Given the description of an element on the screen output the (x, y) to click on. 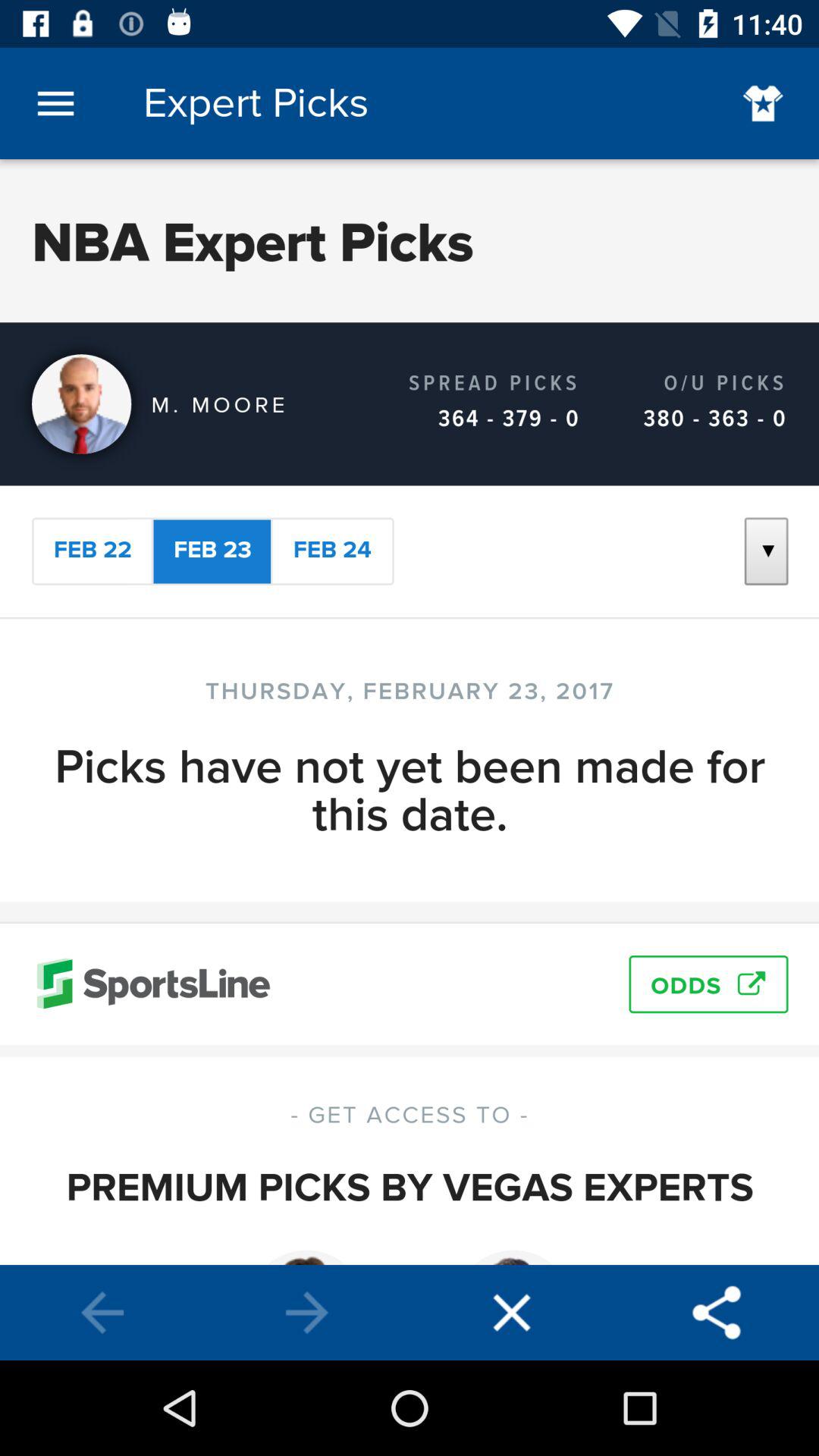
connect to bluetooth (716, 1312)
